Given the description of an element on the screen output the (x, y) to click on. 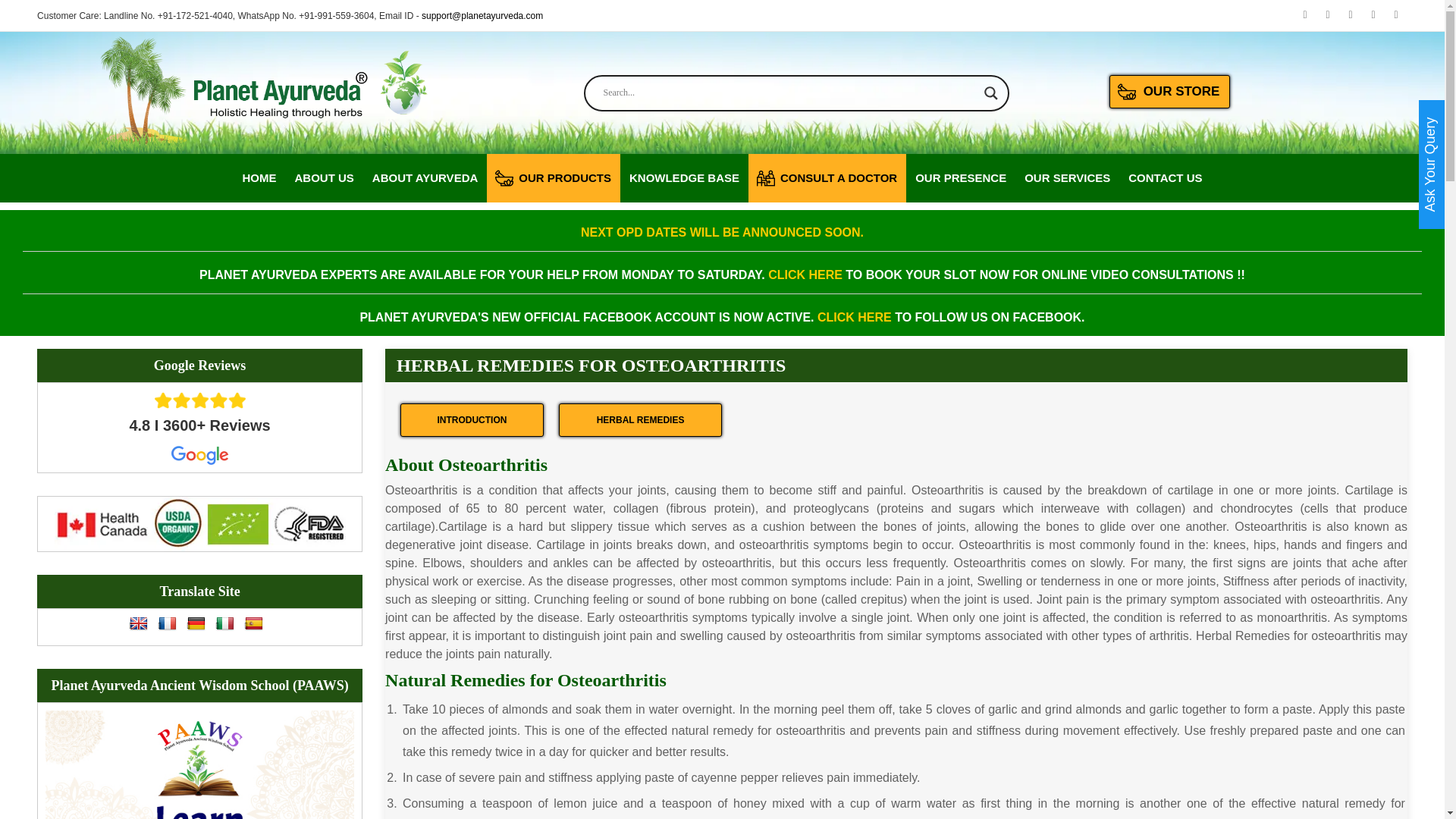
Facebook (1327, 15)
ABOUT US (323, 177)
pinterest (1395, 15)
Spanish (253, 623)
French (167, 623)
INTRODUCTION (471, 419)
instagram (1372, 15)
CONTACT US (1165, 177)
OUR PRESENCE (960, 177)
CONSULT A DOCTOR (826, 177)
